Given the description of an element on the screen output the (x, y) to click on. 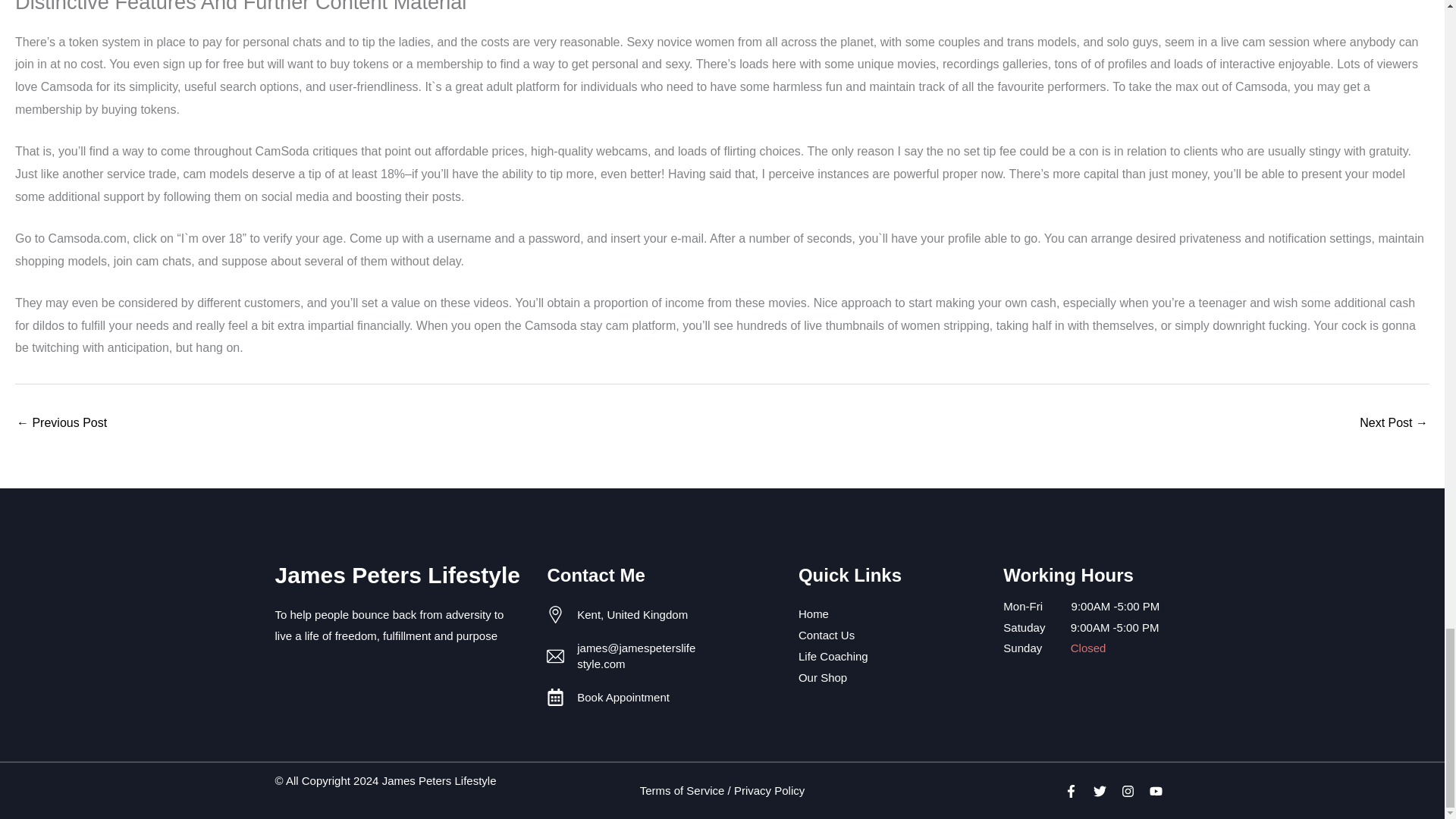
Our Shop (892, 677)
Life Coaching (892, 656)
Book Appointment (630, 696)
Contact Us (892, 634)
Coomeet Evaluations (61, 424)
Privacy Policy (769, 789)
Terms of Service (682, 789)
Home (892, 613)
